Given the description of an element on the screen output the (x, y) to click on. 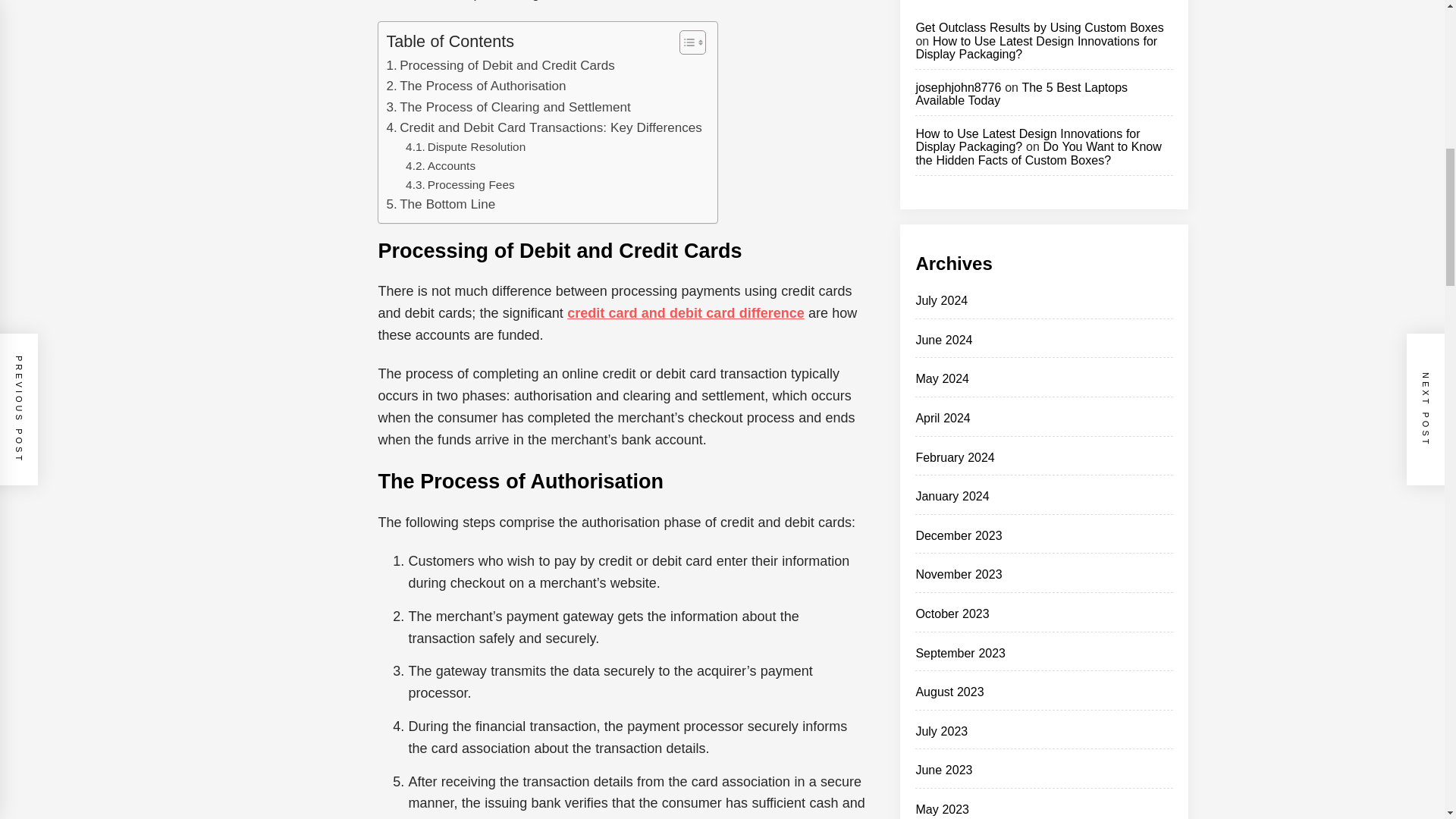
Processing of Debit and Credit Cards (499, 65)
credit card and debit card difference (686, 313)
Credit and Debit Card Transactions: Key Differences (543, 127)
The Process of Authorisation (475, 86)
The Bottom Line (440, 204)
Accounts (441, 166)
The Process of Clearing and Settlement (507, 107)
Dispute Resolution (465, 147)
Credit and Debit Card Transactions: Key Differences (543, 127)
Processing Fees (460, 185)
Processing Fees (460, 185)
The Bottom Line (440, 204)
The Process of Clearing and Settlement (507, 107)
The Process of Authorisation (475, 86)
Dispute Resolution (465, 147)
